Given the description of an element on the screen output the (x, y) to click on. 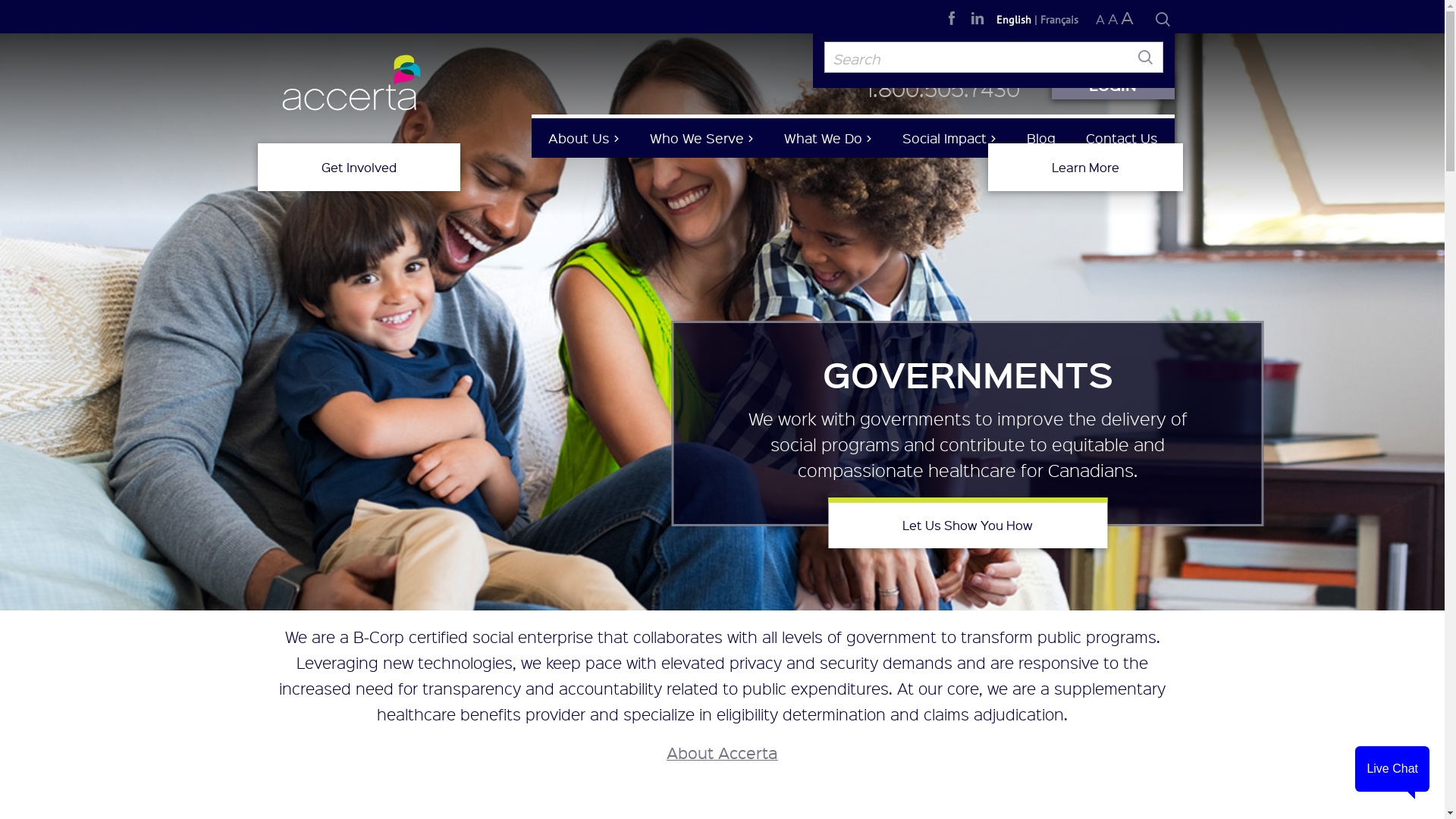
A Element type: text (1099, 19)
Social Impact > Element type: text (949, 146)
Get Involved Element type: text (358, 167)
Blog Element type: text (1041, 146)
Let Us Show You How Element type: text (967, 522)
A Element type: text (1112, 18)
Visit our Facebook Page Element type: hover (951, 18)
Who We Serve > Element type: text (700, 146)
Visit our Linkedin Page Element type: hover (977, 18)
A Element type: text (1126, 16)
Search Element type: text (1162, 19)
1.800.505.7430 Element type: text (942, 88)
Learn More Element type: text (1085, 167)
What We Do > Element type: text (827, 146)
About Us > Element type: text (582, 146)
About Accerta Element type: text (722, 752)
English Element type: text (1013, 19)
LOGIN Element type: text (1112, 85)
Contact Us Element type: text (1121, 146)
